Given the description of an element on the screen output the (x, y) to click on. 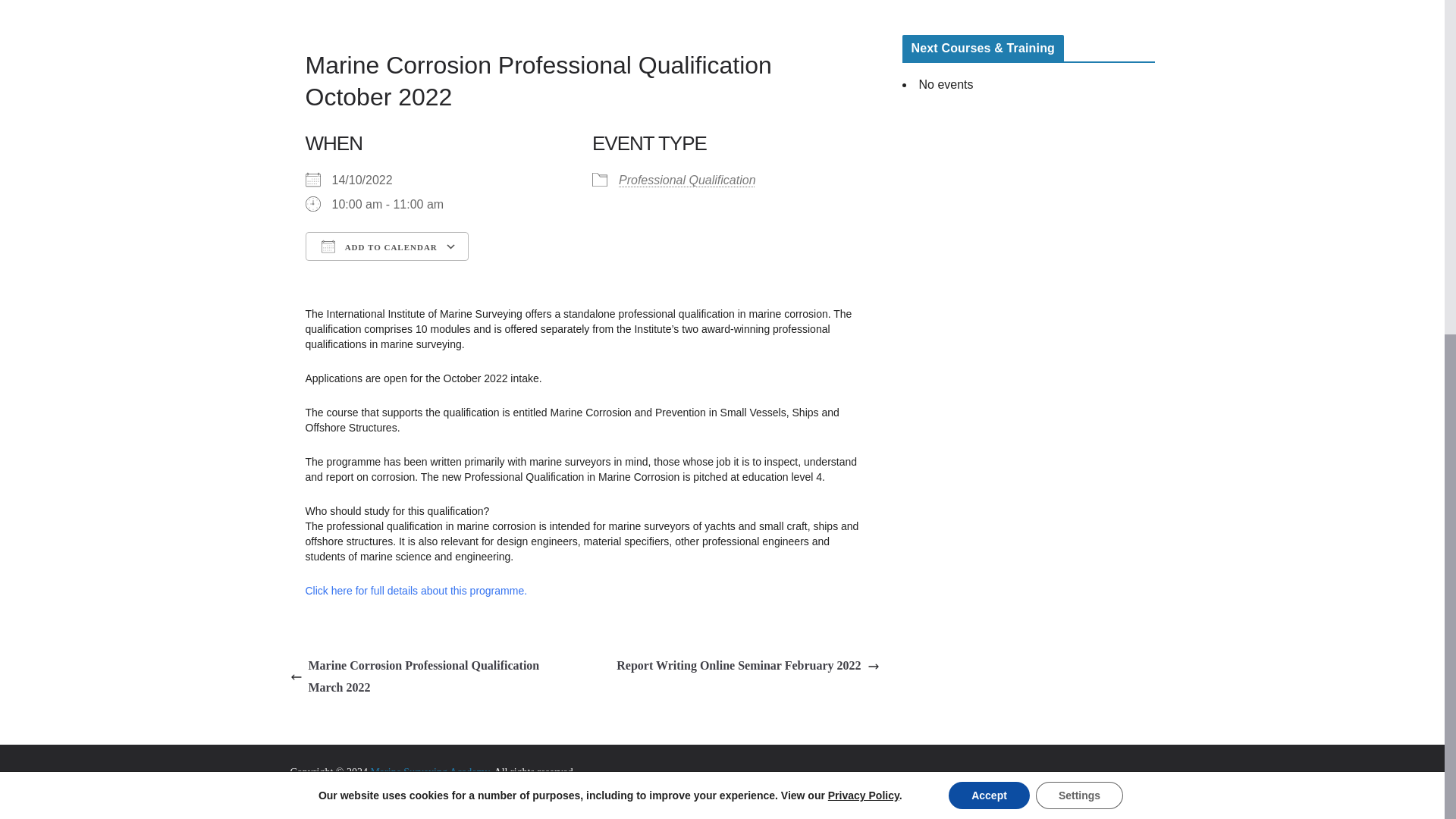
WordPress (514, 790)
Click here for full details about this programme. (415, 590)
ColorMag (346, 790)
Marine Corrosion Professional Qualification March 2022 (432, 677)
Privacy Policy (863, 230)
Marine Surveying Academy (429, 772)
Settings (1078, 230)
ColorMag (346, 790)
Report Writing Online Seminar February 2022 (747, 666)
Download ICS (376, 273)
ADD TO CALENDAR (385, 246)
Google Calendar (524, 273)
Professional Qualification (686, 179)
Accept (989, 230)
WordPress (514, 790)
